Given the description of an element on the screen output the (x, y) to click on. 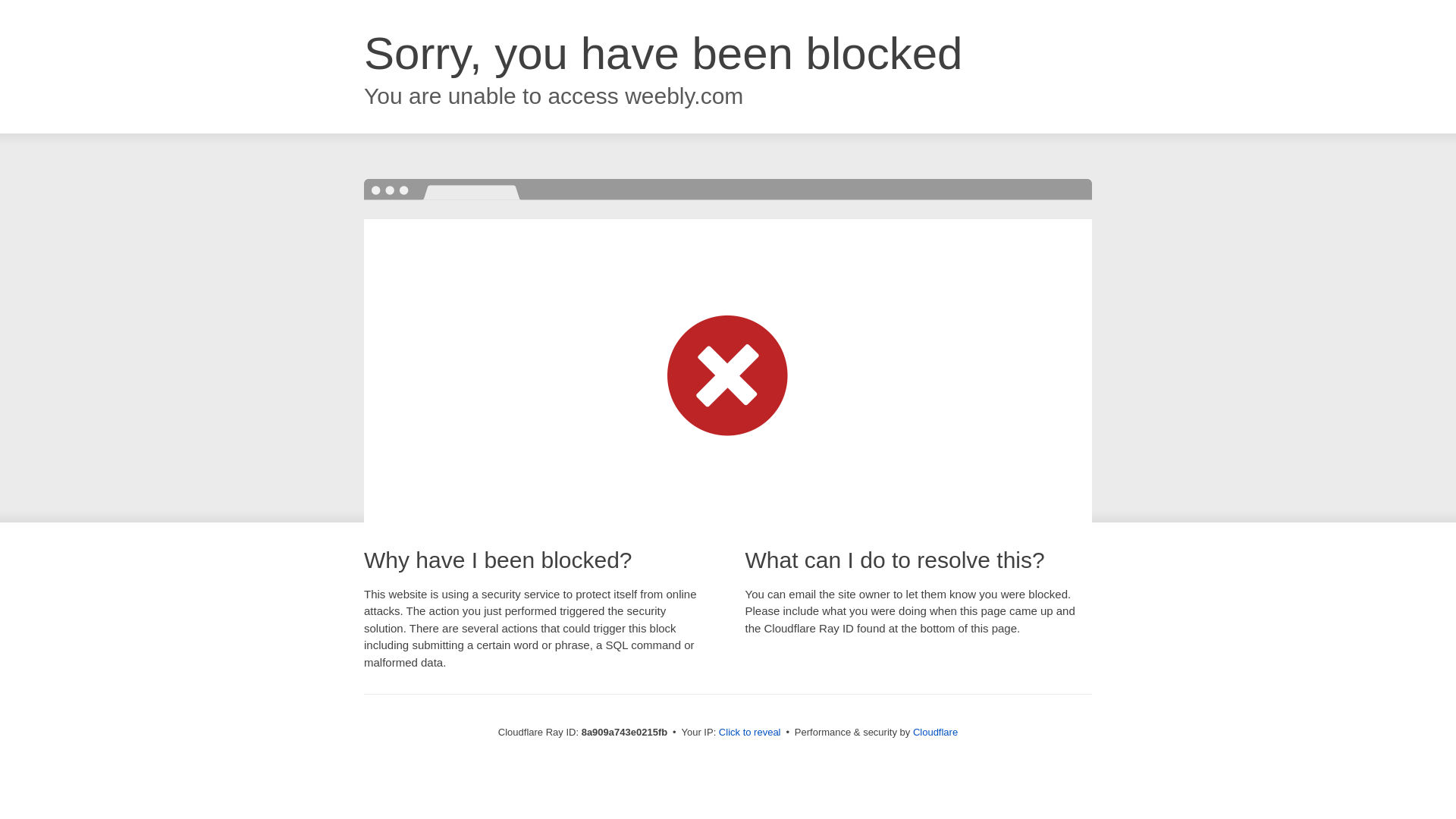
Click to reveal (749, 732)
Cloudflare (935, 731)
